Given the description of an element on the screen output the (x, y) to click on. 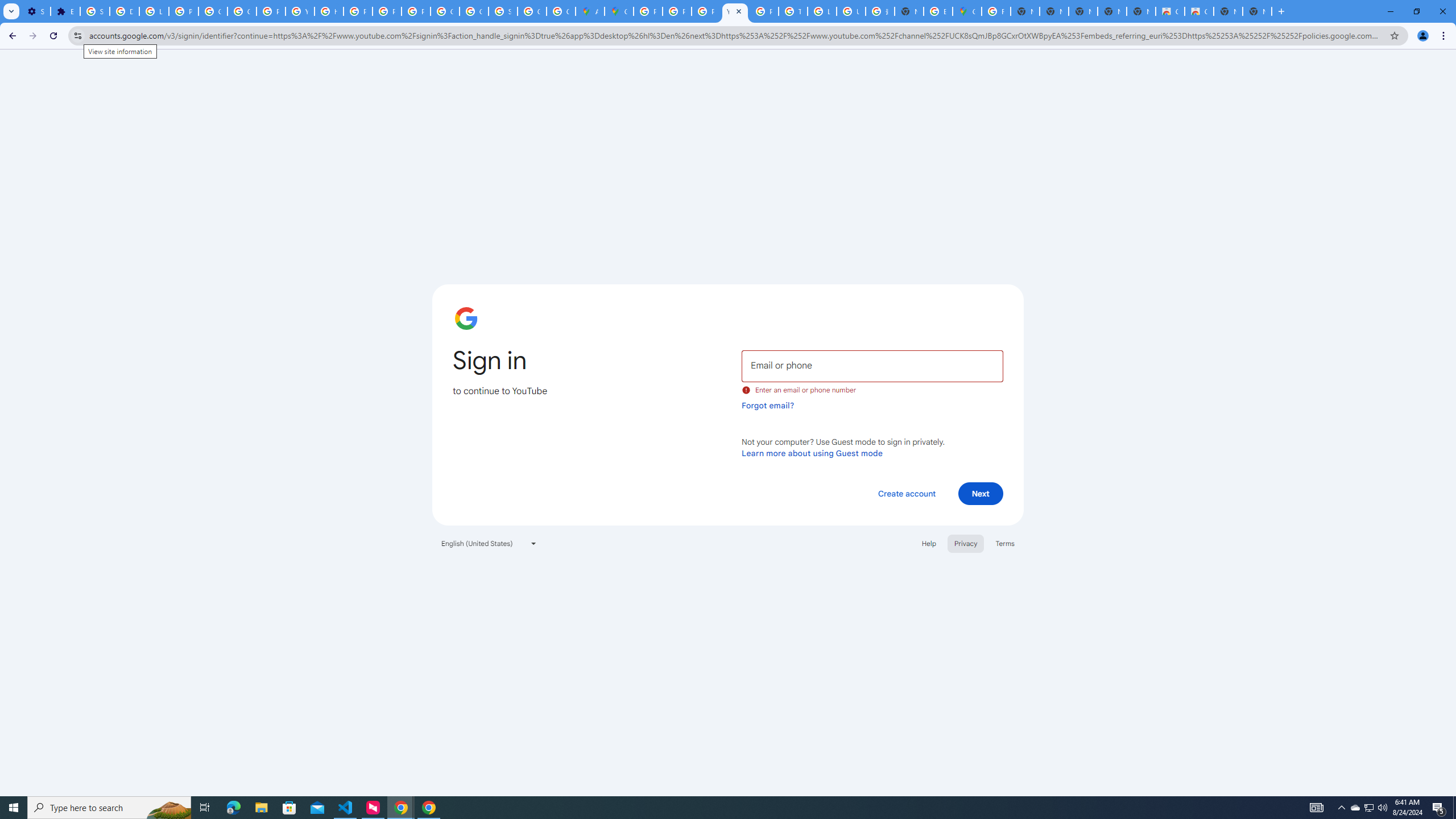
Forgot email? (767, 404)
Explore new street-level details - Google Maps Help (938, 11)
Privacy Help Center - Policies Help (677, 11)
English (United States) (489, 542)
Email or phone (871, 365)
Learn more about using Guest mode (812, 452)
Sign in - Google Accounts (95, 11)
YouTube (734, 11)
Sign in - Google Accounts (502, 11)
Delete photos & videos - Computer - Google Photos Help (124, 11)
